Given the description of an element on the screen output the (x, y) to click on. 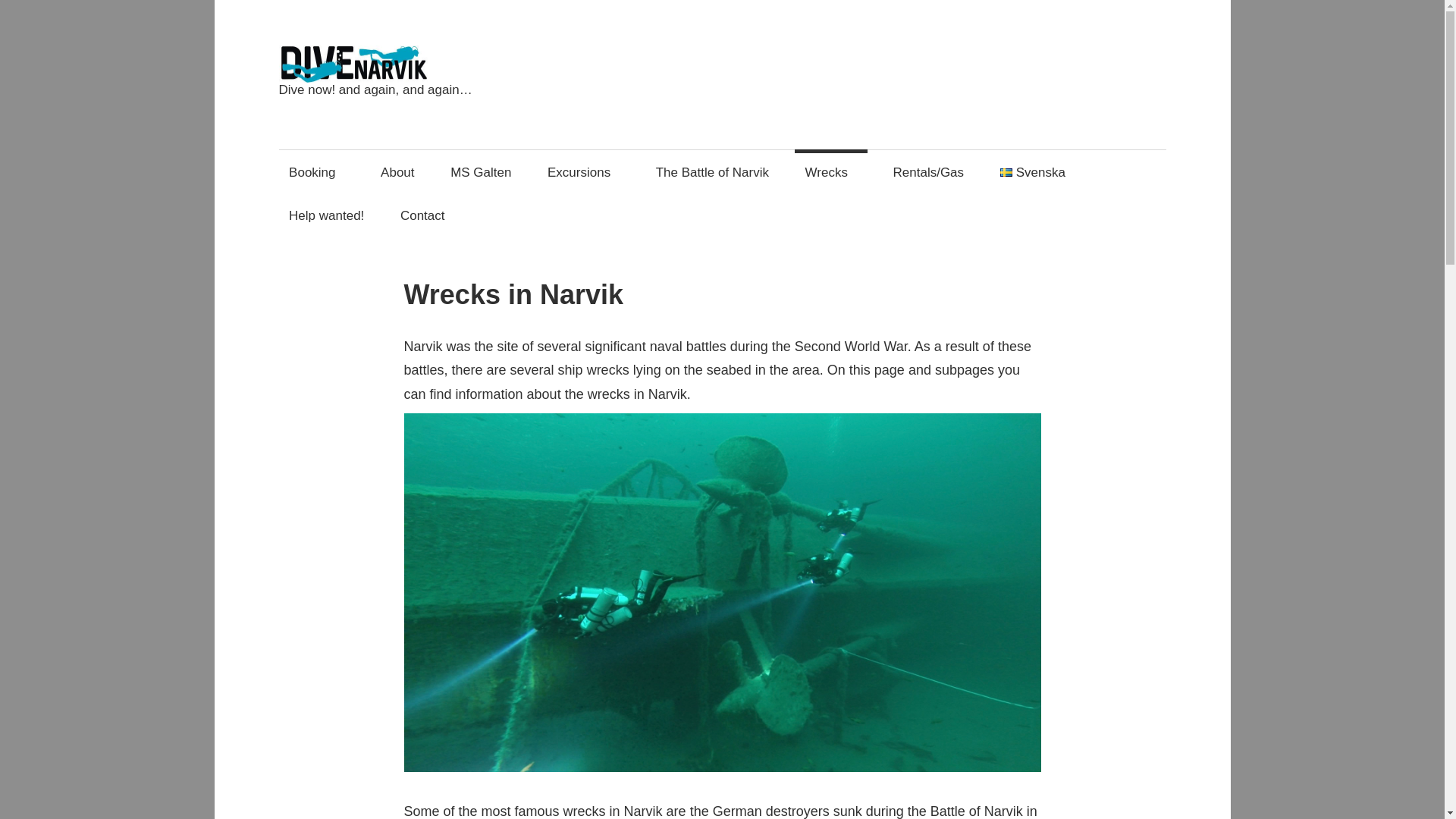
Contact (422, 215)
The Battle of Narvik (711, 171)
Wrecks (830, 171)
Excursions (582, 171)
Booking (317, 171)
MS Galten (481, 171)
About (398, 171)
Help wanted! (326, 215)
Svenska (1032, 171)
